Given the description of an element on the screen output the (x, y) to click on. 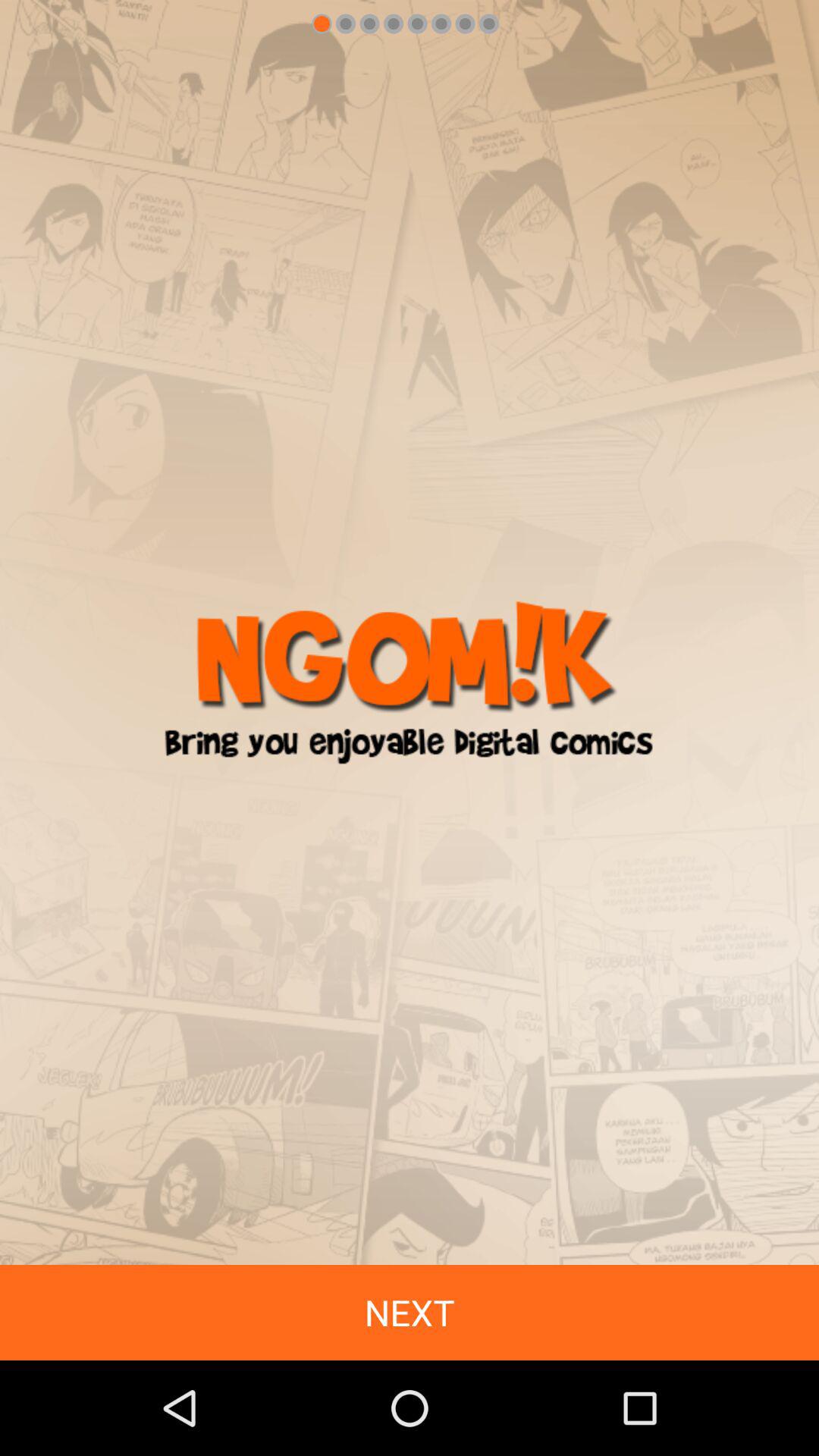
open the icon at the bottom (409, 1312)
